Given the description of an element on the screen output the (x, y) to click on. 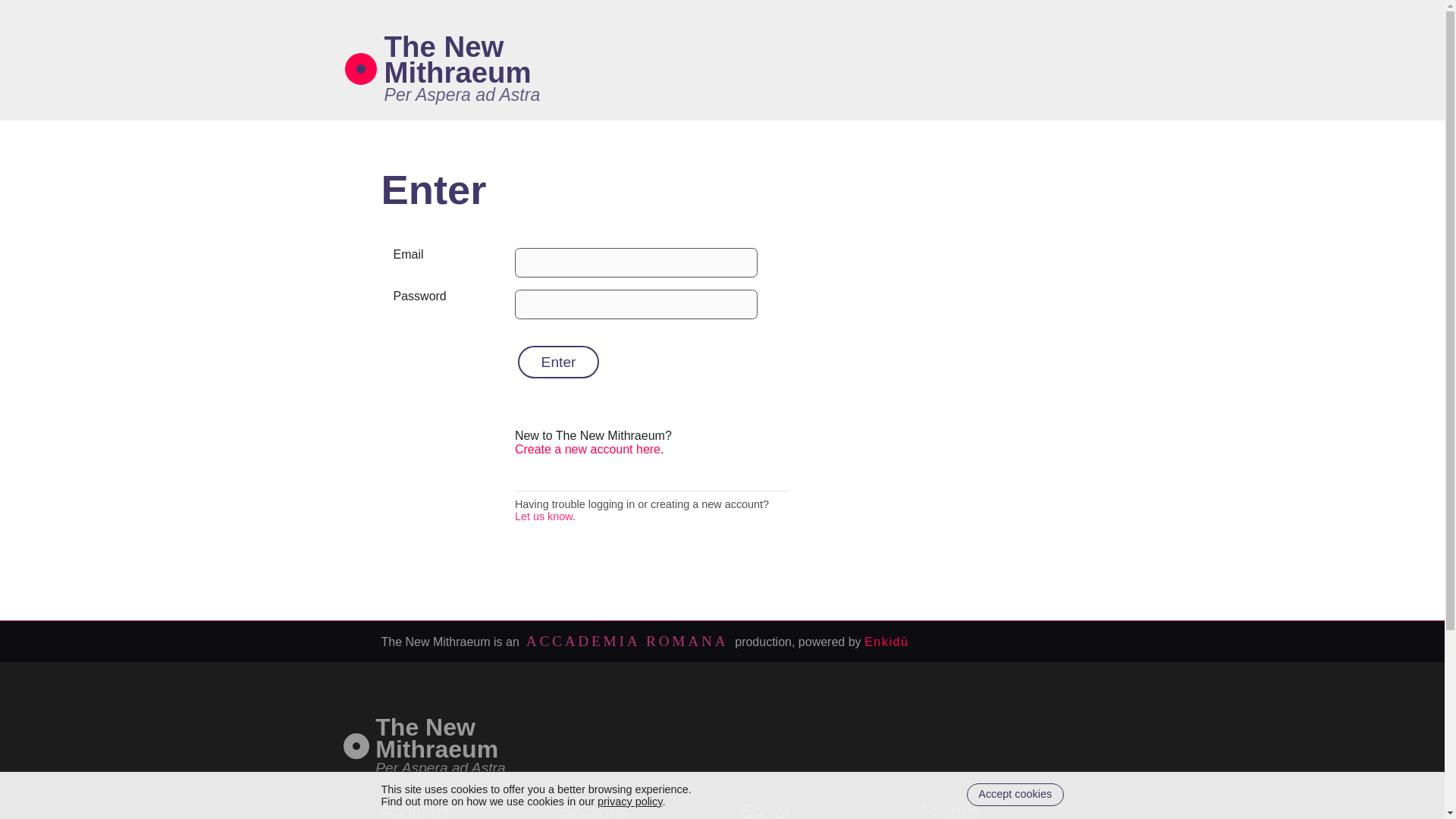
ACCADEMIA ROMANA (627, 641)
Enter (558, 361)
Let us know (543, 516)
Per Aspera ad Astra (436, 737)
Per Aspera ad Astra (440, 767)
Accept cookies (457, 59)
privacy policy (462, 94)
Enter (1015, 794)
Create a new account here (629, 801)
